Given the description of an element on the screen output the (x, y) to click on. 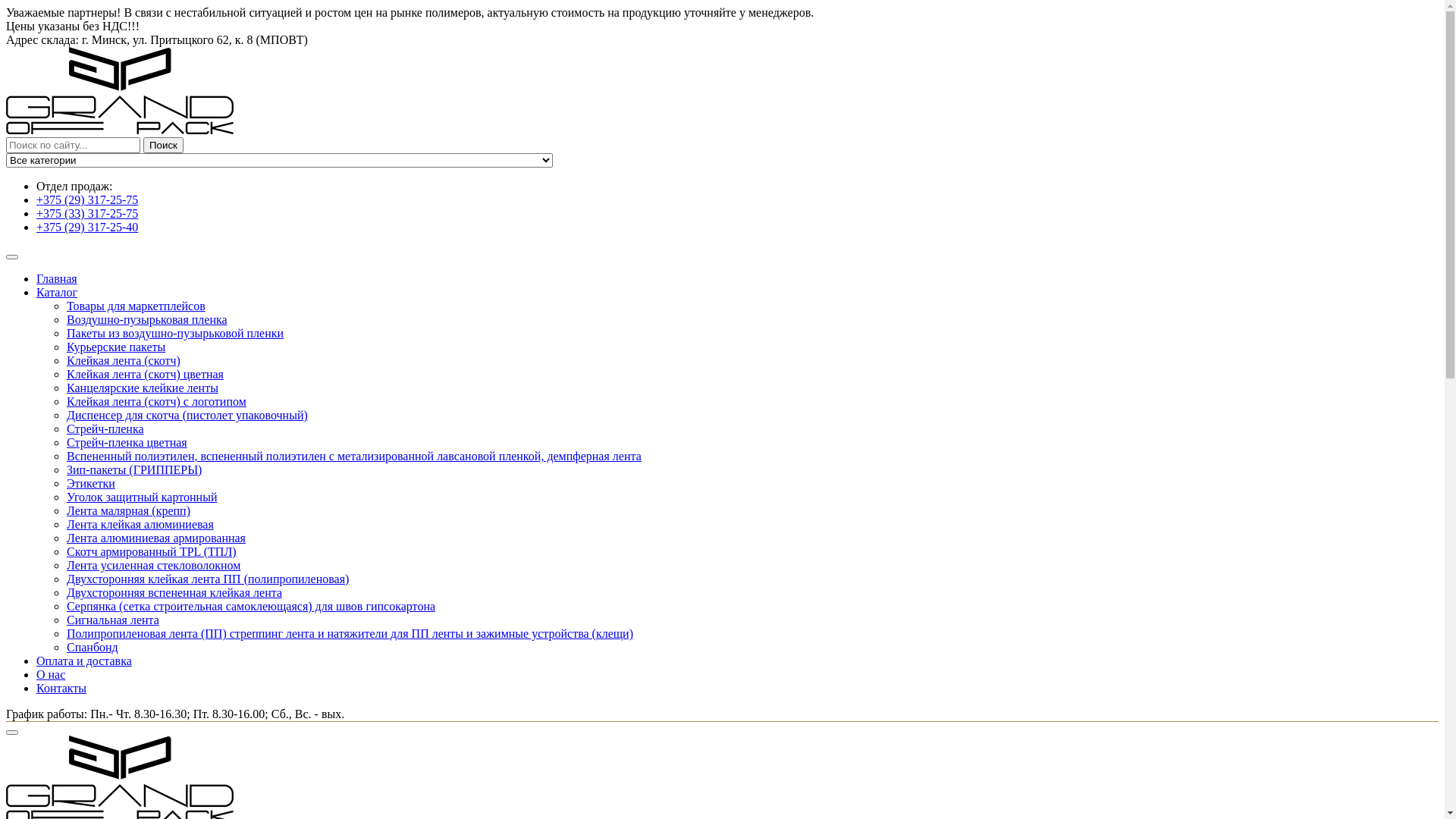
+375 (33) 317-25-75 Element type: text (87, 213)
+375 (29) 317-25-75 Element type: text (87, 199)
+375 (29) 317-25-40 Element type: text (87, 226)
